Given the description of an element on the screen output the (x, y) to click on. 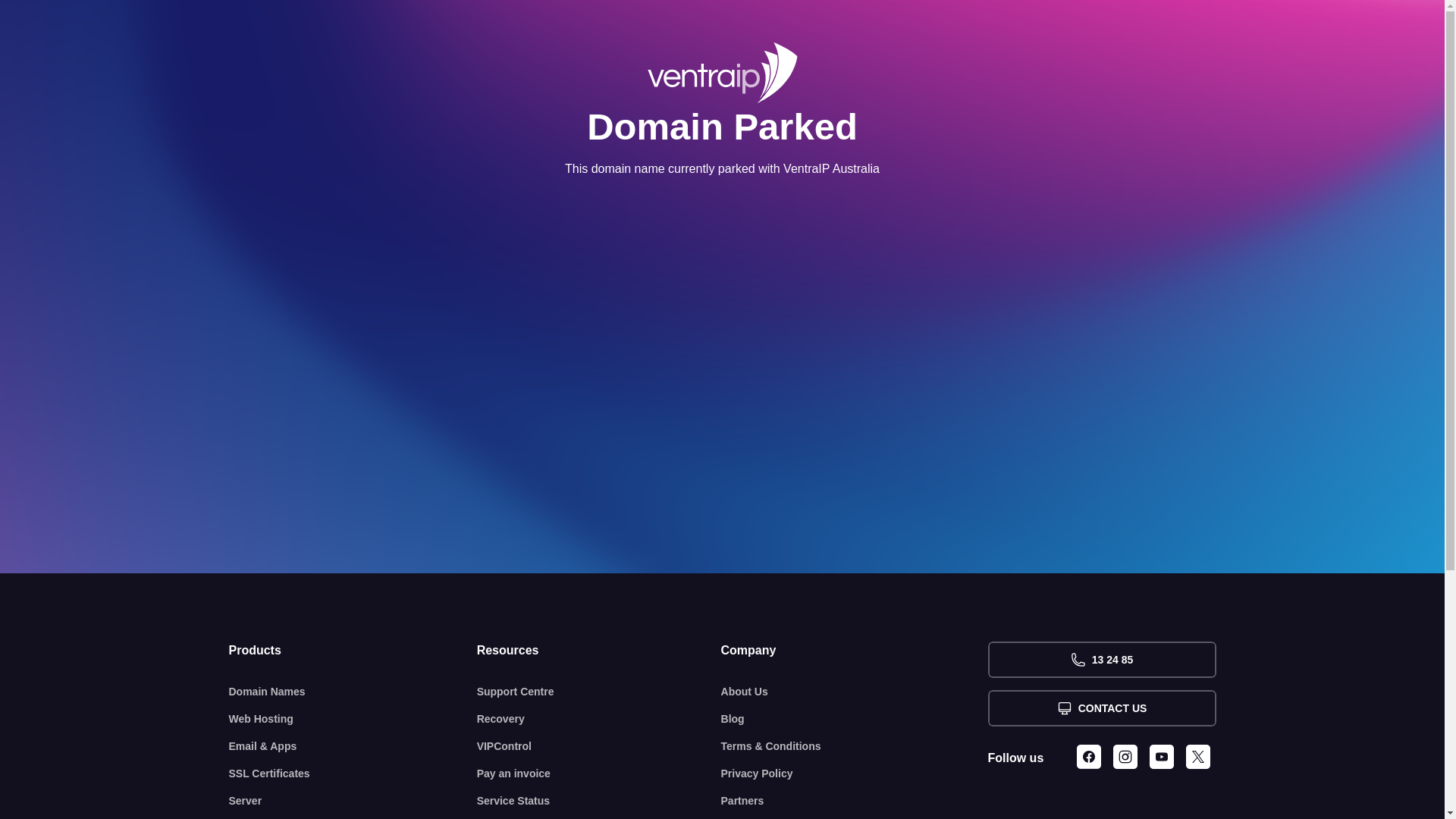
Server Element type: text (352, 800)
SSL Certificates Element type: text (352, 773)
CONTACT US Element type: text (1101, 708)
Partners Element type: text (854, 800)
Blog Element type: text (854, 718)
Privacy Policy Element type: text (854, 773)
Domain Names Element type: text (352, 691)
Pay an invoice Element type: text (598, 773)
13 24 85 Element type: text (1101, 659)
VIPControl Element type: text (598, 745)
Support Centre Element type: text (598, 691)
About Us Element type: text (854, 691)
Web Hosting Element type: text (352, 718)
Recovery Element type: text (598, 718)
Service Status Element type: text (598, 800)
Terms & Conditions Element type: text (854, 745)
Email & Apps Element type: text (352, 745)
